Given the description of an element on the screen output the (x, y) to click on. 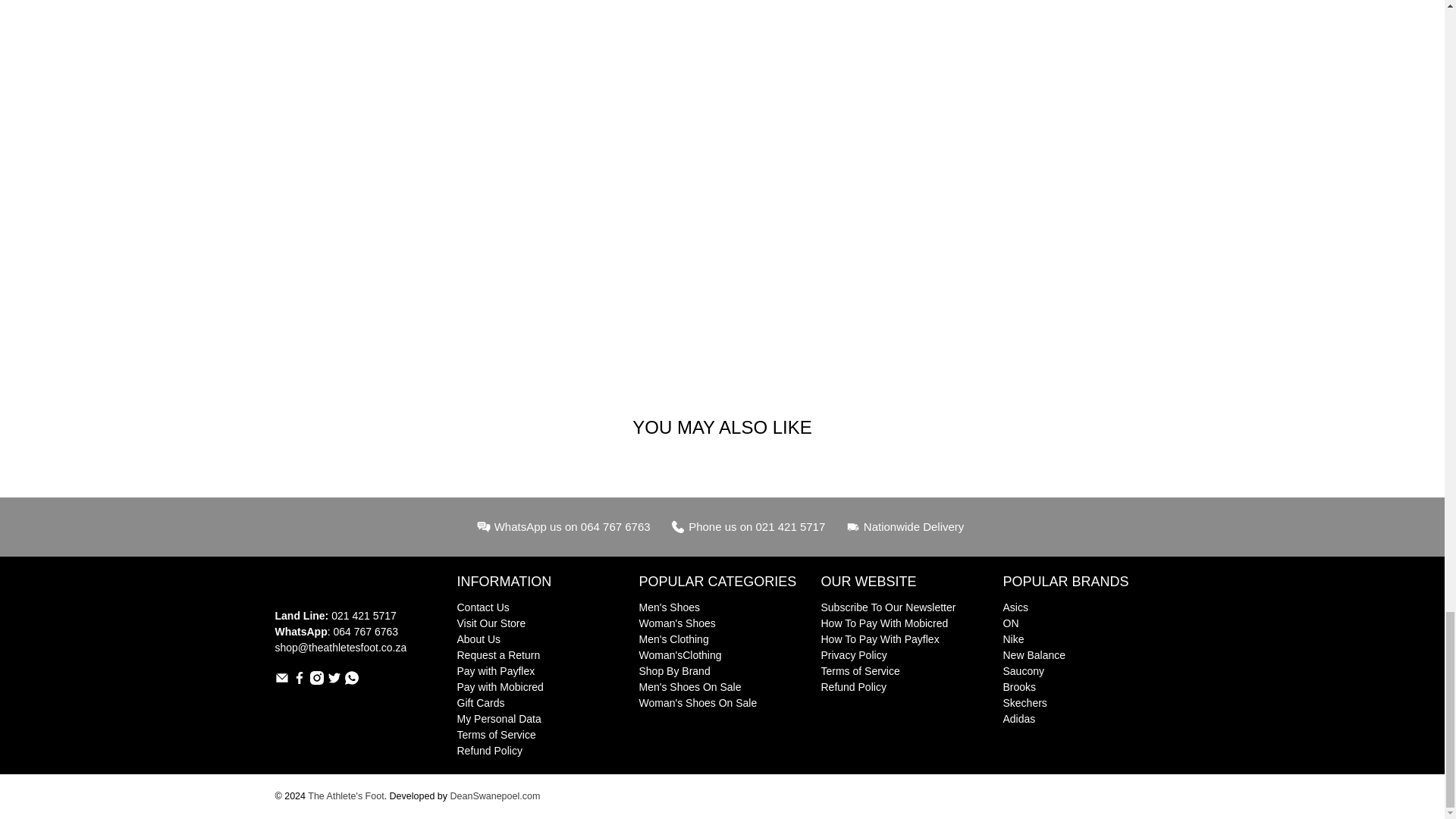
Email The Athlete's Foot (281, 680)
The Athlete's Foot (324, 589)
The Athlete's Foot on Facebook (298, 680)
